Given the description of an element on the screen output the (x, y) to click on. 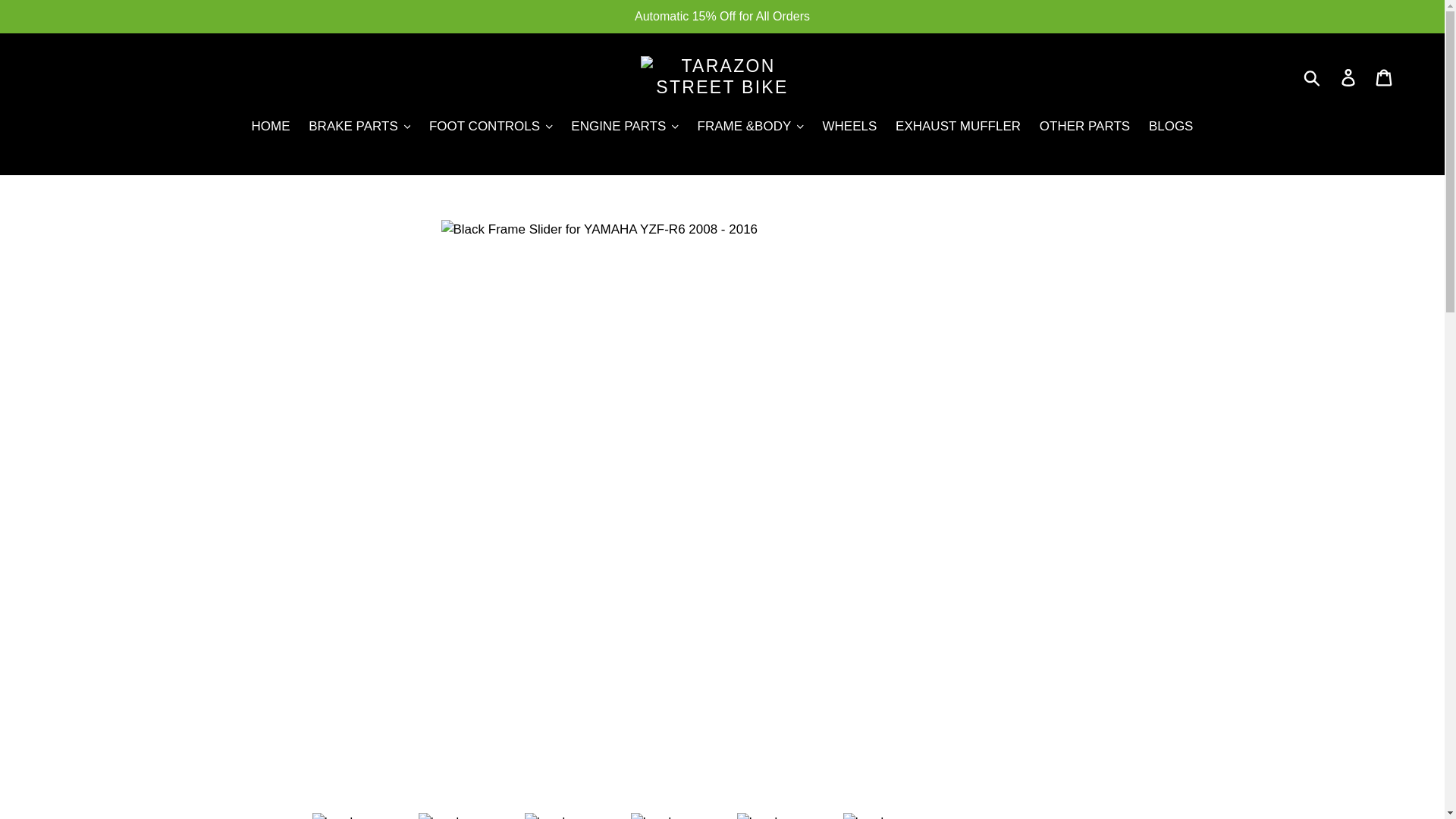
Submit (1313, 77)
Cart (1385, 77)
Log in (1349, 77)
